Given the description of an element on the screen output the (x, y) to click on. 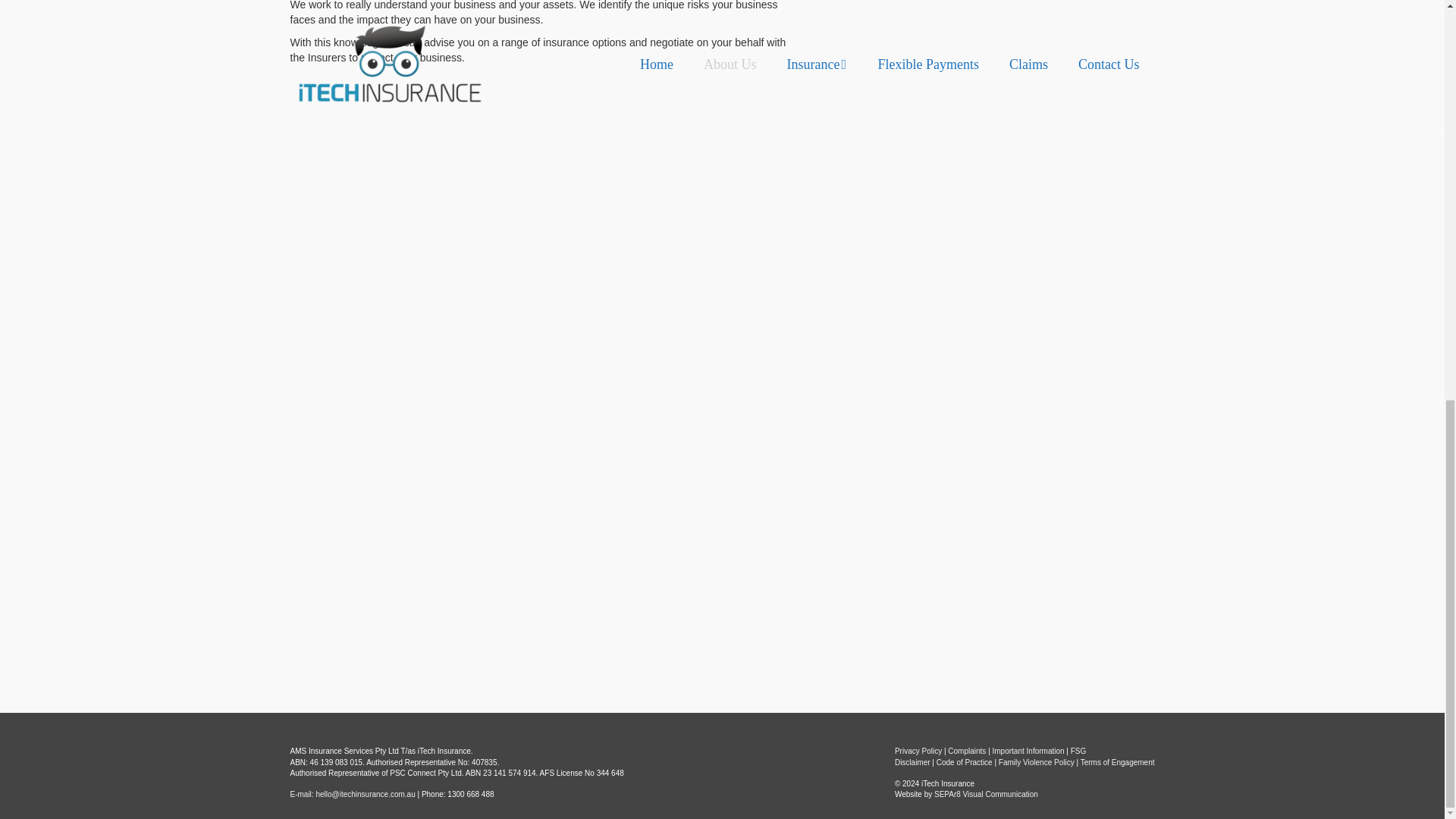
SEPAr8 Visual Communication (986, 794)
Code of Practice (964, 762)
Terms of Engagement (1117, 762)
Important Information (1028, 750)
Privacy Policy (918, 750)
FSG (1078, 750)
Family Violence Policy (1036, 762)
Disclaimer (912, 762)
Complaints (967, 750)
